Given the description of an element on the screen output the (x, y) to click on. 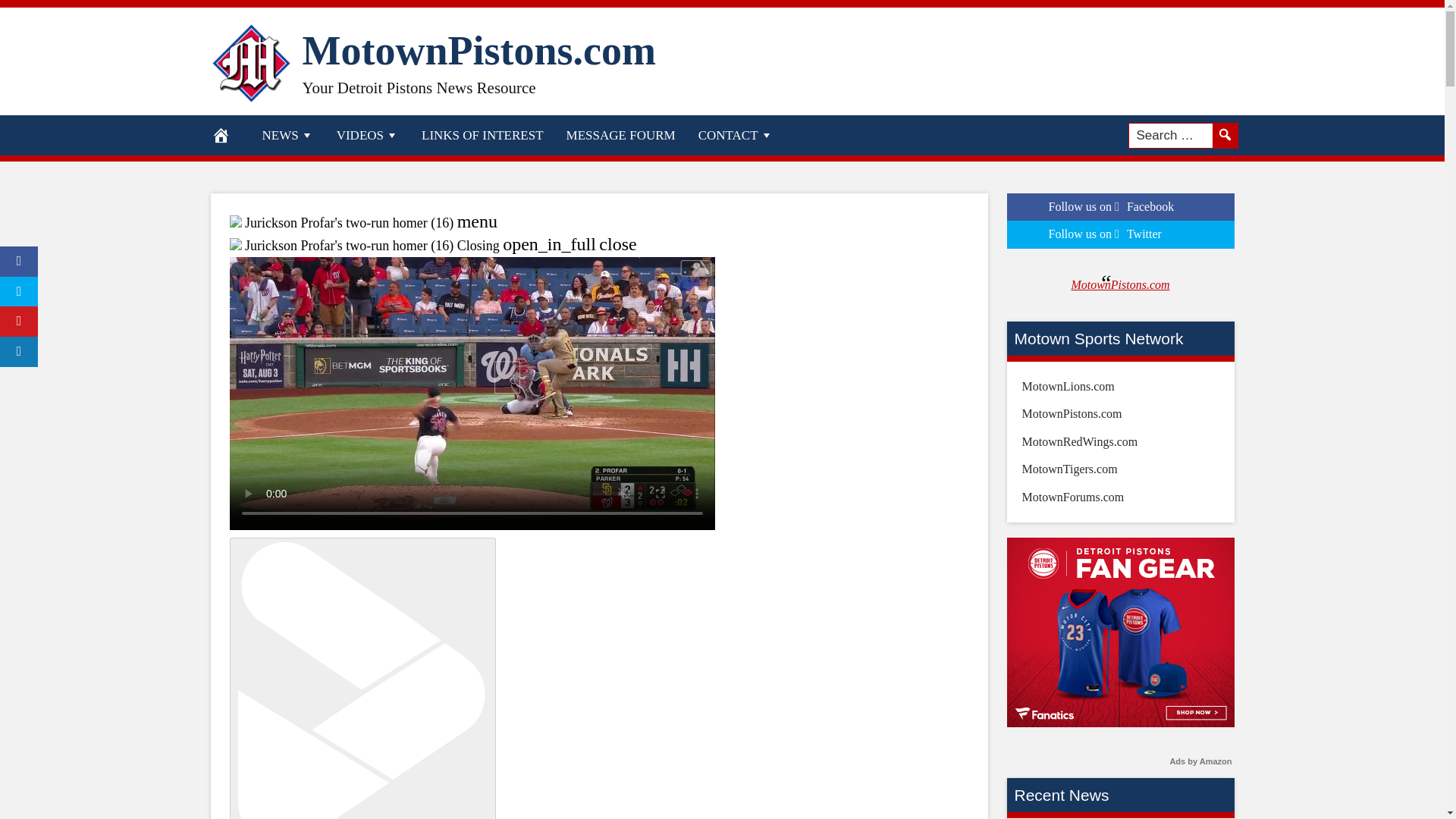
MotownPistons.com (478, 50)
LINKS OF INTEREST (482, 135)
VIDEOS (367, 135)
MESSAGE FOURM (620, 135)
NEWS (287, 135)
CONTACT (735, 135)
